Given the description of an element on the screen output the (x, y) to click on. 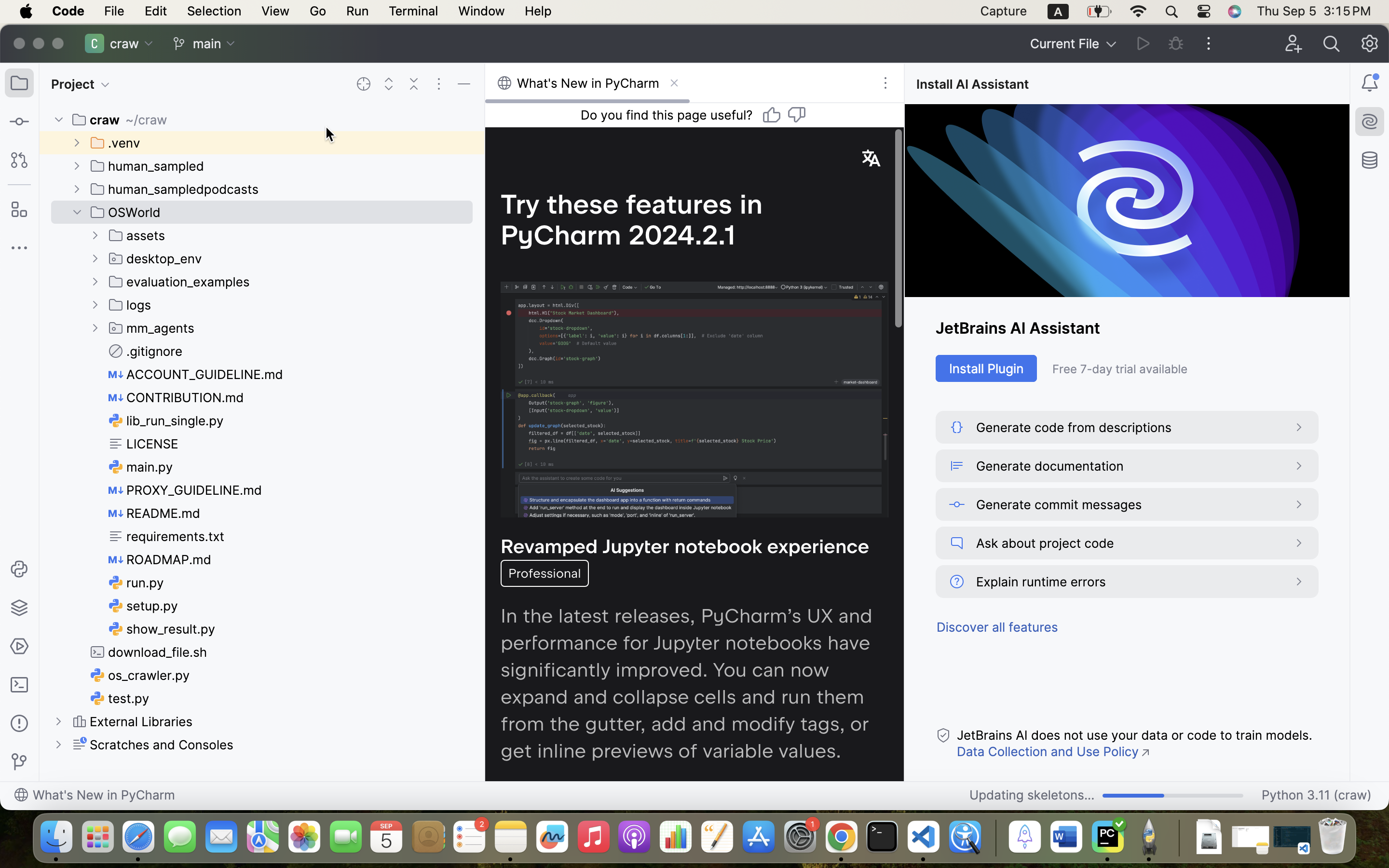
Do you find this page useful? Element type: AXStaticText (666, 115)
41 Element type: AXProgressIndicator (1172, 795)
human_sampledpodcasts Element type: AXStaticText (174, 188)
0 Element type: AXStaticText (152, 744)
Python 3.11 (craw) Element type: AXStaticText (1316, 796)
